Given the description of an element on the screen output the (x, y) to click on. 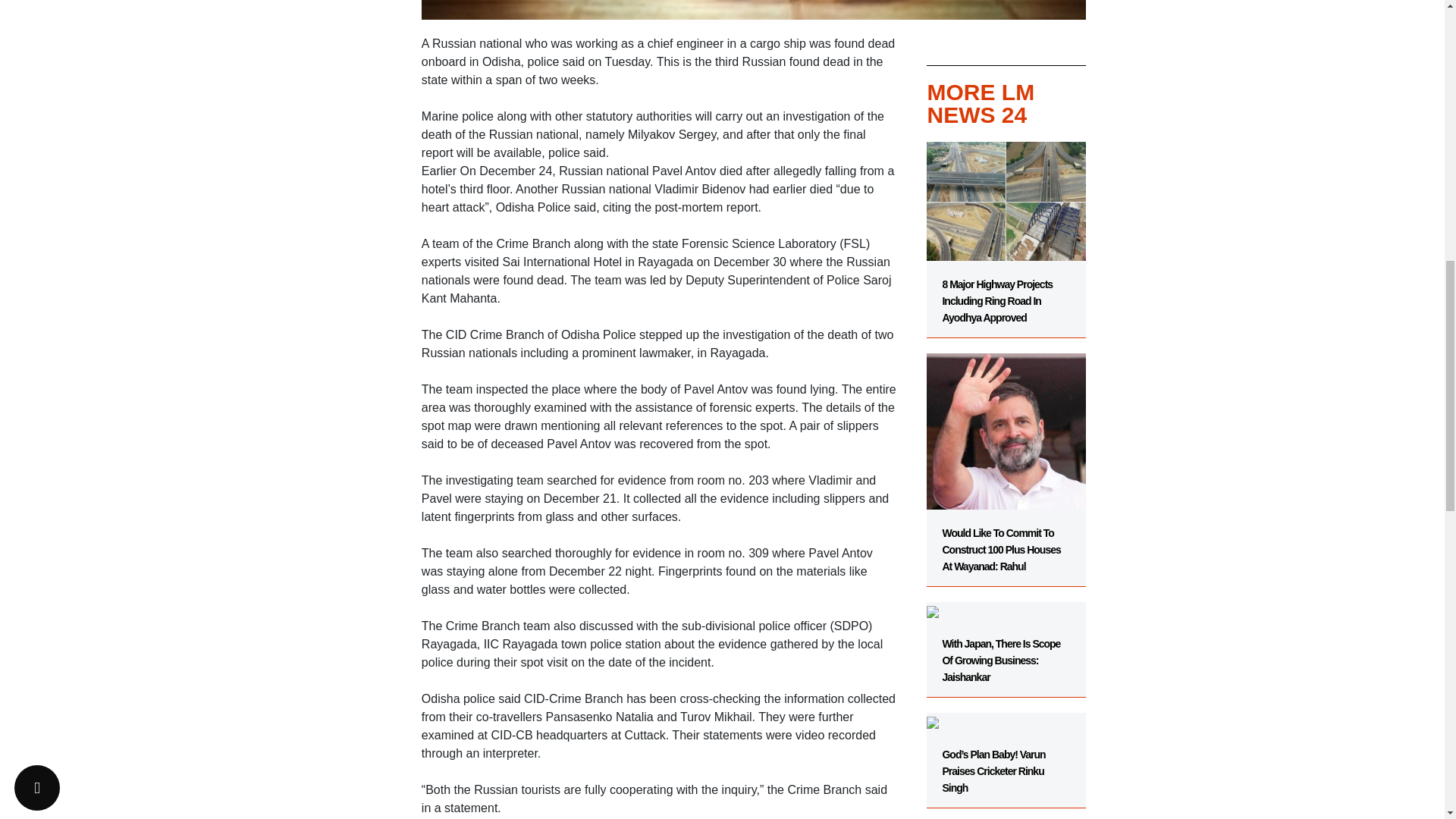
With Japan, There Is Scope Of Growing Business: Jaishankar (1006, 642)
